Given the description of an element on the screen output the (x, y) to click on. 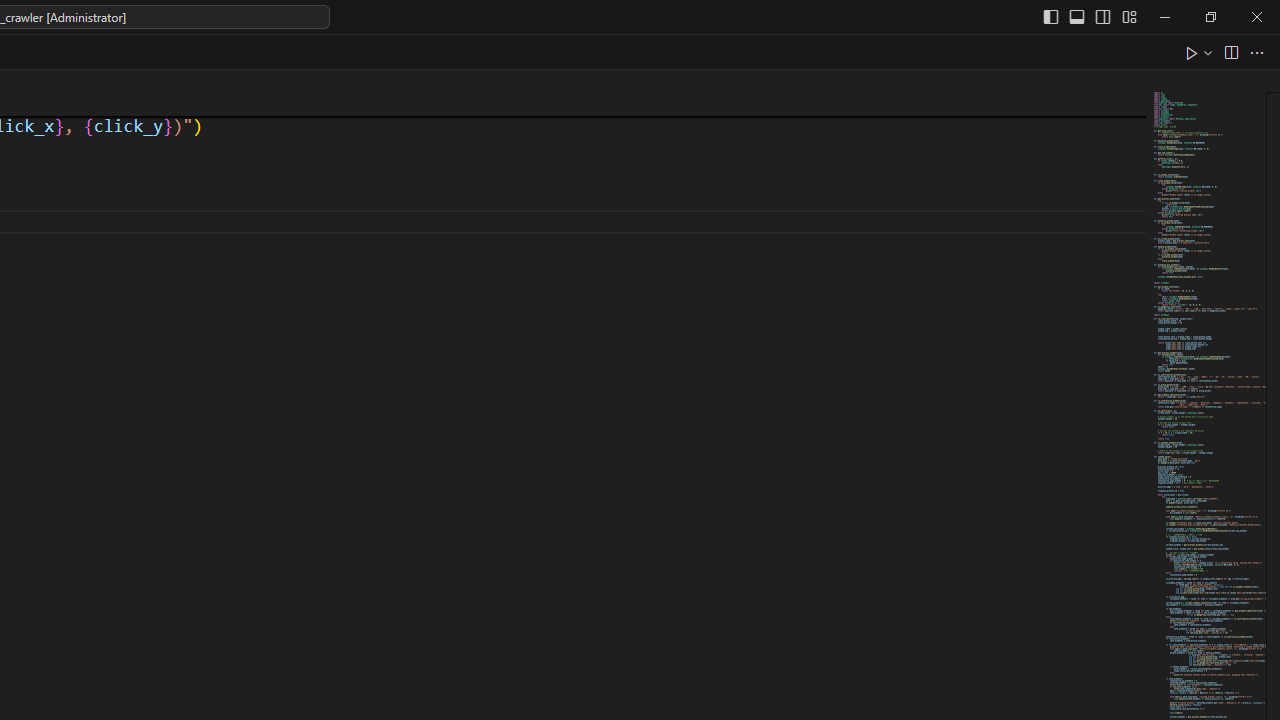
More Actions... (1256, 52)
Customize Layout... (1128, 16)
Run or Debug... (1208, 52)
Editor actions (1226, 52)
Toggle Secondary Side Bar (Ctrl+Alt+B) (1102, 16)
Split Editor Right (Ctrl+\) [Alt] Split Editor Down (1230, 52)
Toggle Primary Side Bar (Ctrl+B) (1050, 16)
Toggle Panel (Ctrl+J) (1077, 16)
Title actions (1089, 16)
Run Python File (1192, 52)
Restore (1210, 16)
